Given the description of an element on the screen output the (x, y) to click on. 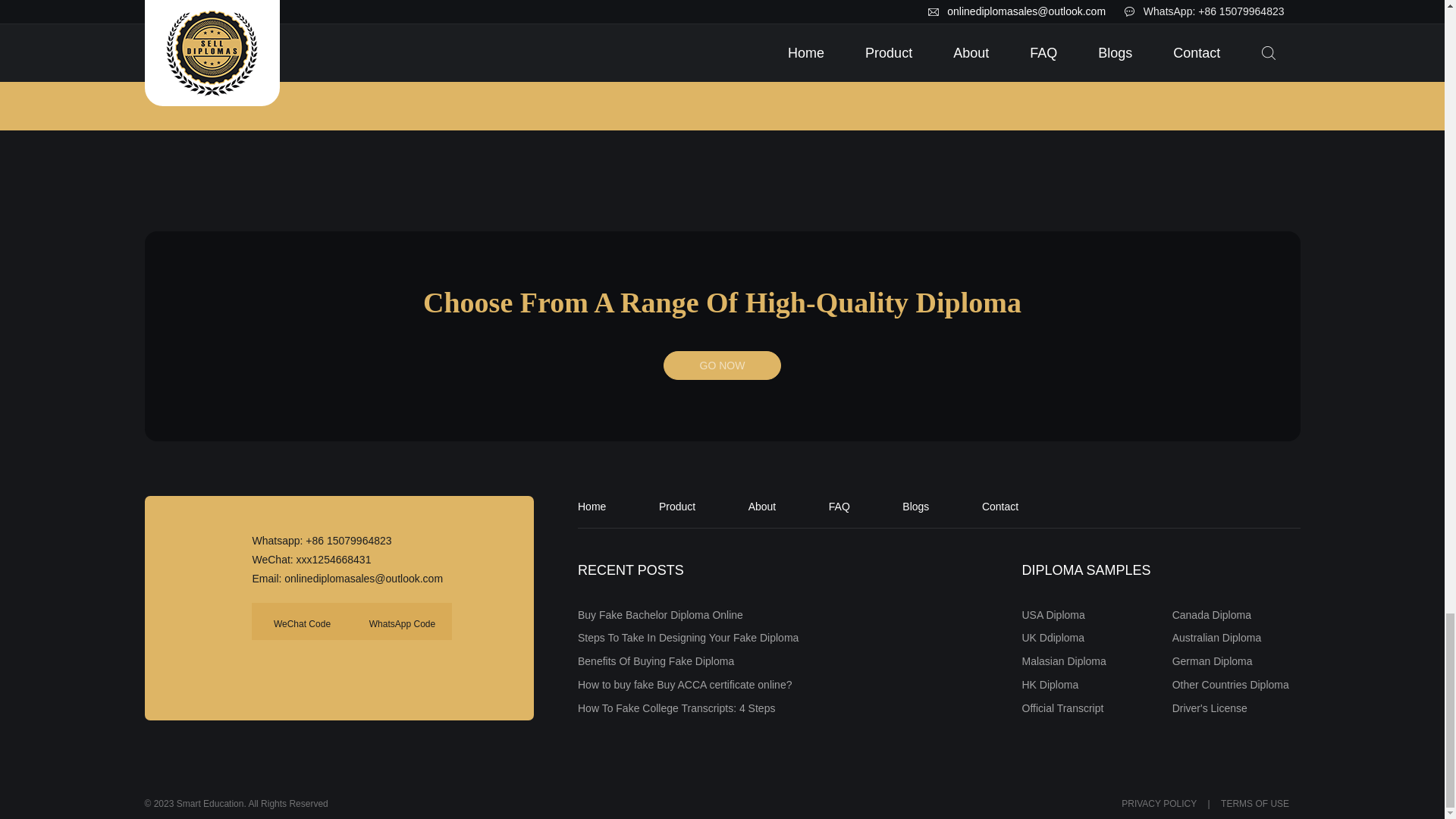
FAQ (839, 506)
where to buy fake middlesex university diploma certificate? (568, 26)
Product (677, 506)
How to buy a fake Manchester Metropolitan University degree? (875, 26)
Contact (999, 506)
Blogs (915, 506)
Home (591, 506)
How to buy a fake Manchester Metropolitan University degree? (876, 2)
Steps To Take In Designing Your Fake Diploma (687, 637)
Buy Fake Bachelor Diploma Online (660, 614)
Sell fake University of Manchester diploma online. (1182, 26)
Why buy a University of Southampton degree? (261, 26)
About (762, 506)
GO NOW (721, 365)
Why buy a University of Southampton degree? (261, 2)
